Given the description of an element on the screen output the (x, y) to click on. 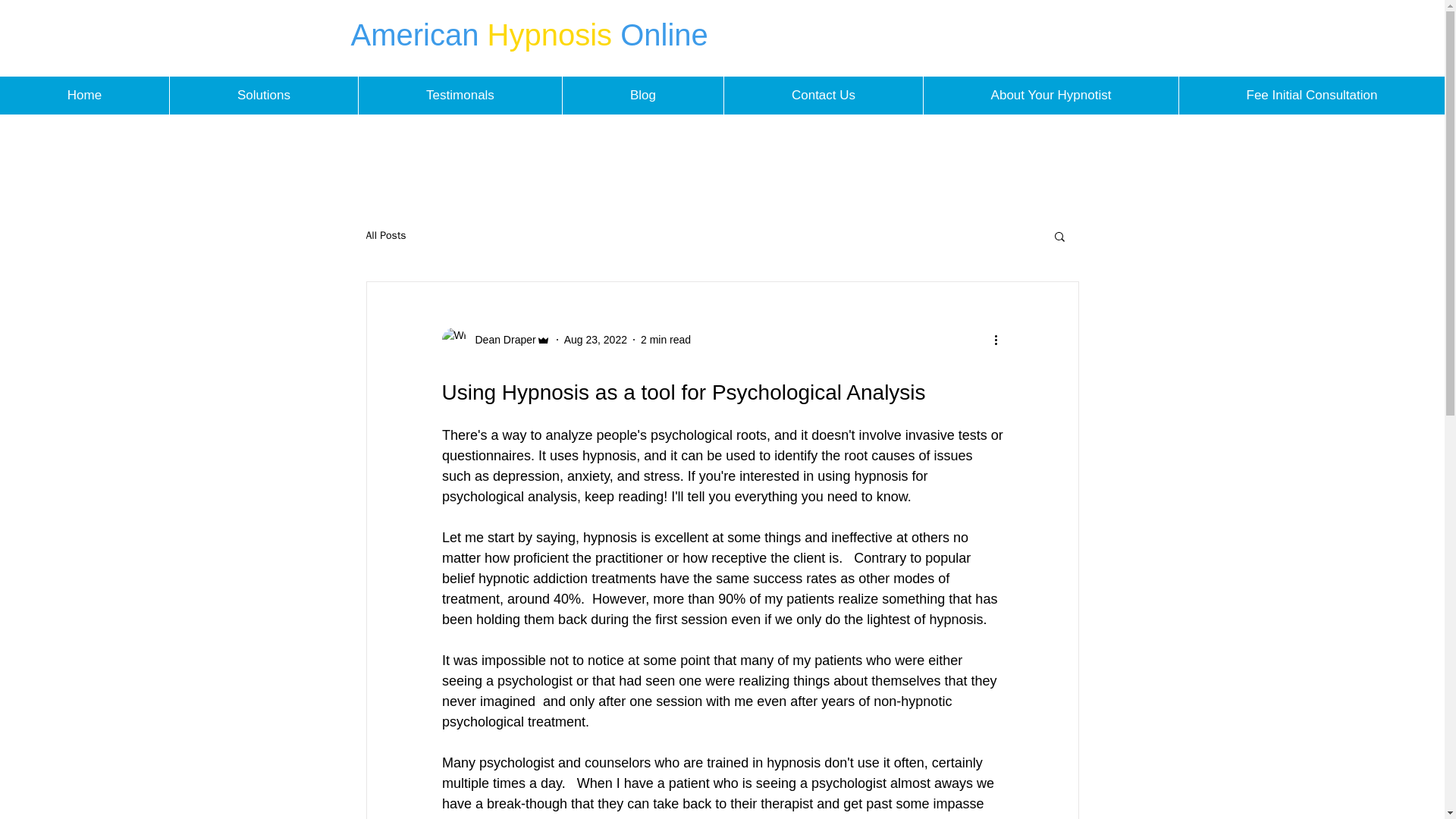
Dean Draper (495, 339)
Aug 23, 2022 (595, 339)
Dean Draper (500, 340)
Contact Us (823, 95)
All Posts (385, 235)
Blog (642, 95)
Home (84, 95)
American (418, 34)
2 min read (665, 339)
About Your Hypnotist (1050, 95)
